Given the description of an element on the screen output the (x, y) to click on. 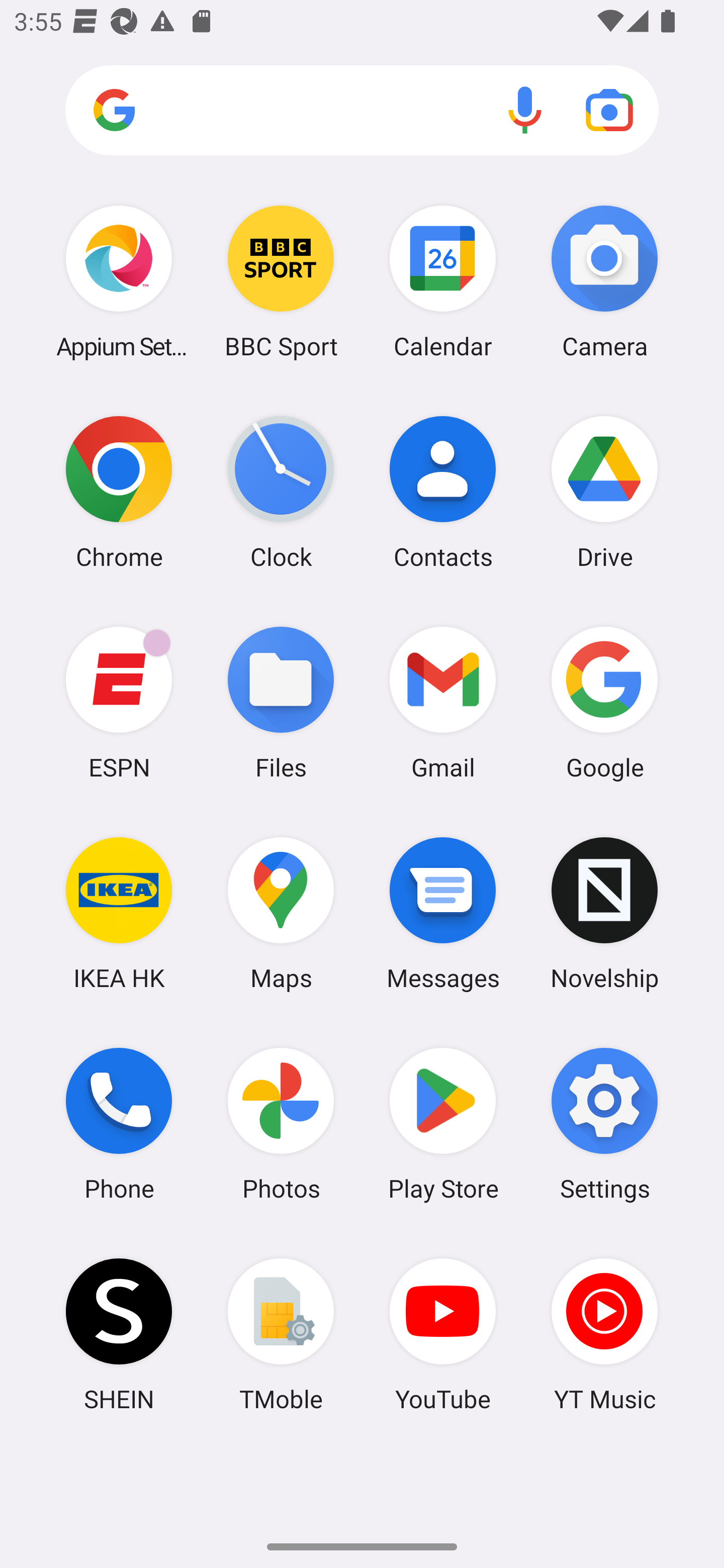
Search apps, web and more (361, 110)
Voice search (524, 109)
Google Lens (608, 109)
Appium Settings (118, 281)
BBC Sport (280, 281)
Calendar (443, 281)
Camera (604, 281)
Chrome (118, 492)
Clock (280, 492)
Contacts (443, 492)
Drive (604, 492)
ESPN ESPN has 3 notifications (118, 702)
Files (280, 702)
Gmail (443, 702)
Google (604, 702)
IKEA HK (118, 913)
Maps (280, 913)
Messages (443, 913)
Novelship (604, 913)
Phone (118, 1124)
Photos (280, 1124)
Play Store (443, 1124)
Settings (604, 1124)
SHEIN (118, 1334)
TMoble (280, 1334)
YouTube (443, 1334)
YT Music (604, 1334)
